Given the description of an element on the screen output the (x, y) to click on. 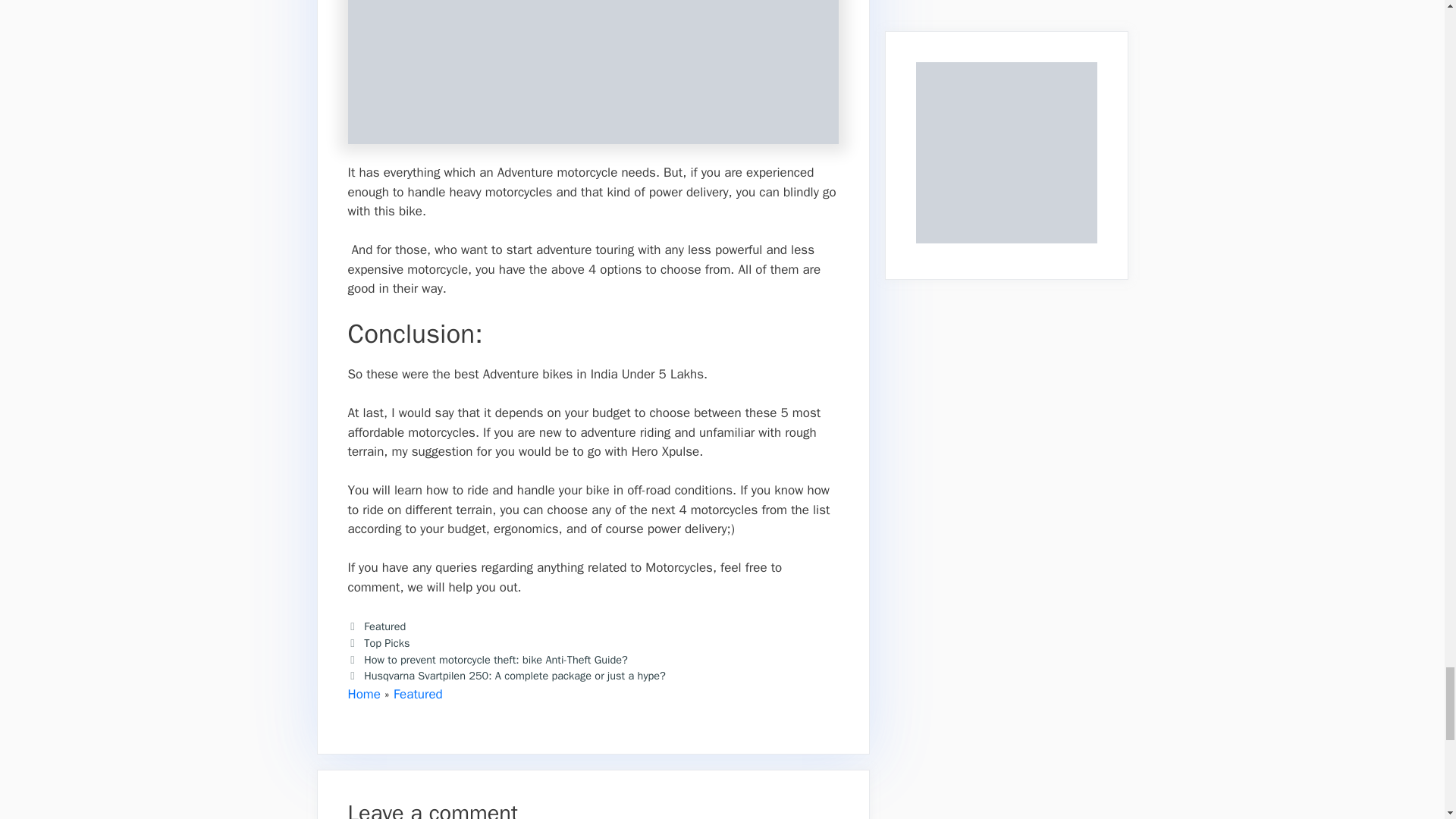
Featured (417, 693)
Husqvarna Svartpilen 250: A complete package or just a hype? (514, 675)
How to prevent motorcycle theft: bike Anti-Theft Guide? (495, 658)
Top Picks (386, 643)
Home (363, 693)
Featured (385, 626)
